Given the description of an element on the screen output the (x, y) to click on. 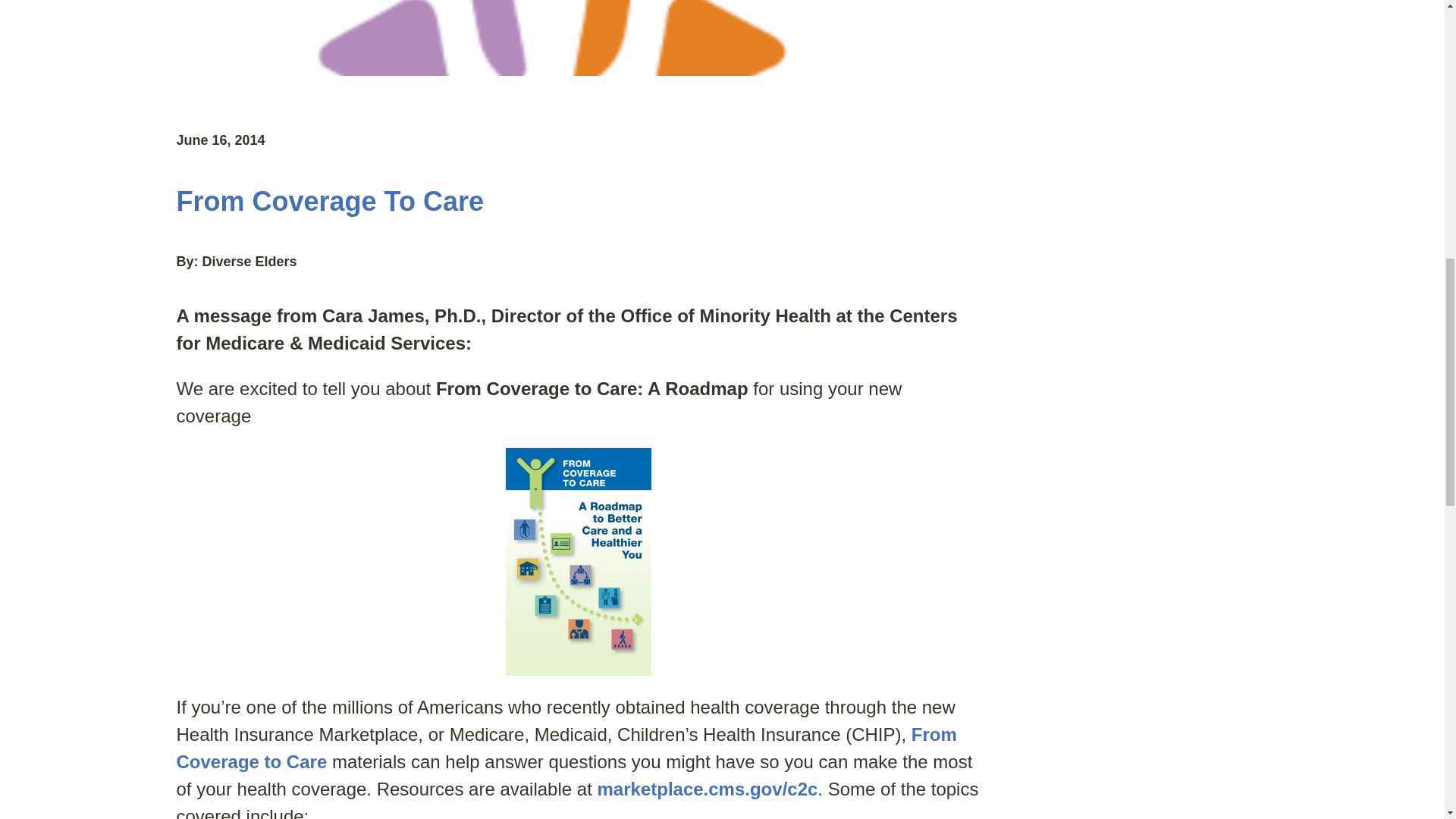
From Coverage to Care (566, 747)
